Given the description of an element on the screen output the (x, y) to click on. 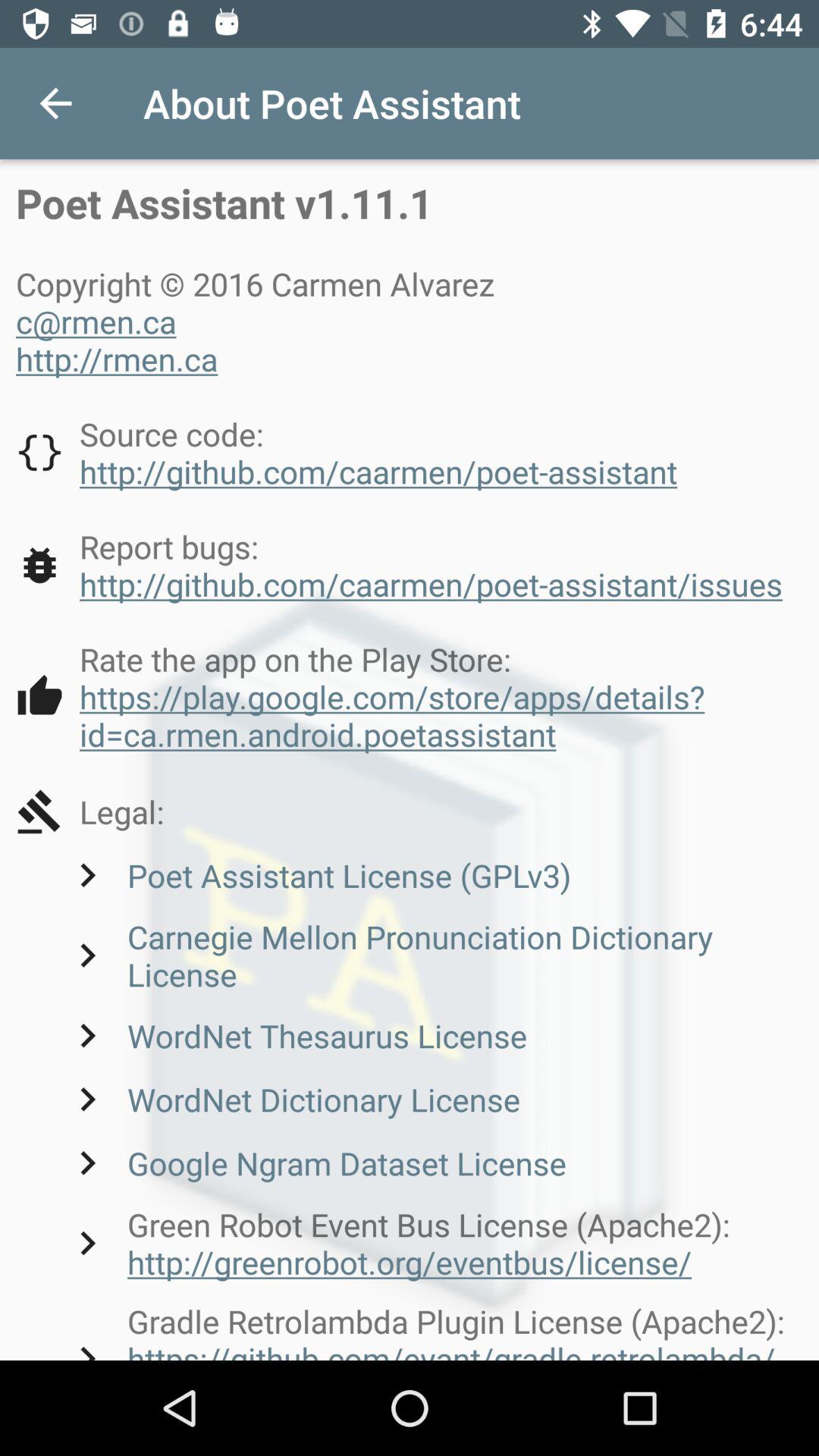
turn on the item above the green robot event item (314, 1162)
